Given the description of an element on the screen output the (x, y) to click on. 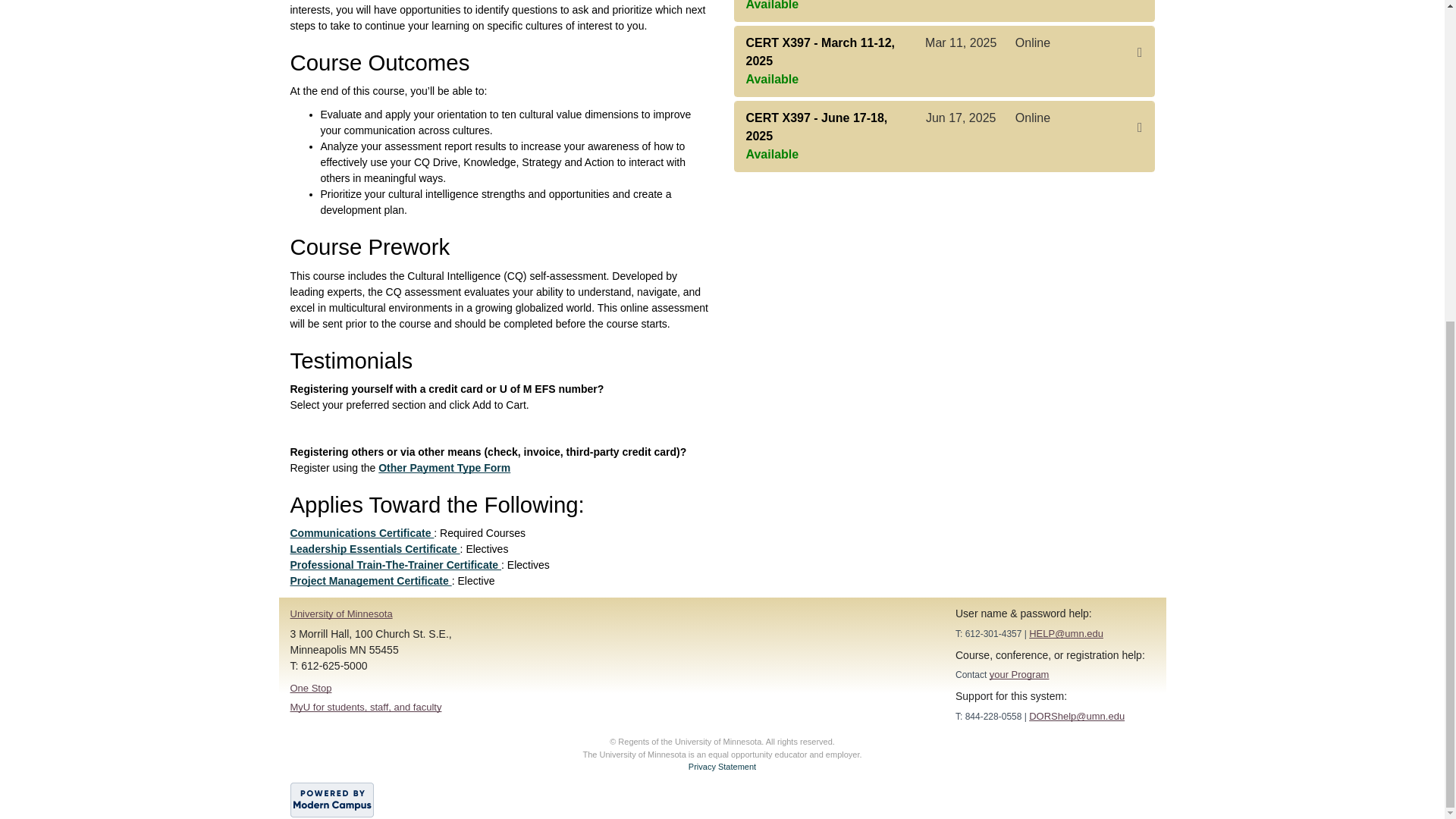
Leadership Essentials Certificate (374, 548)
Powered by Lifelong Learning EE (330, 799)
Professional Train-The-Trainer Certificate (394, 564)
Other Payment Type Form (444, 467)
Communications Certificate (361, 532)
Project Management Certificate (370, 580)
